Given the description of an element on the screen output the (x, y) to click on. 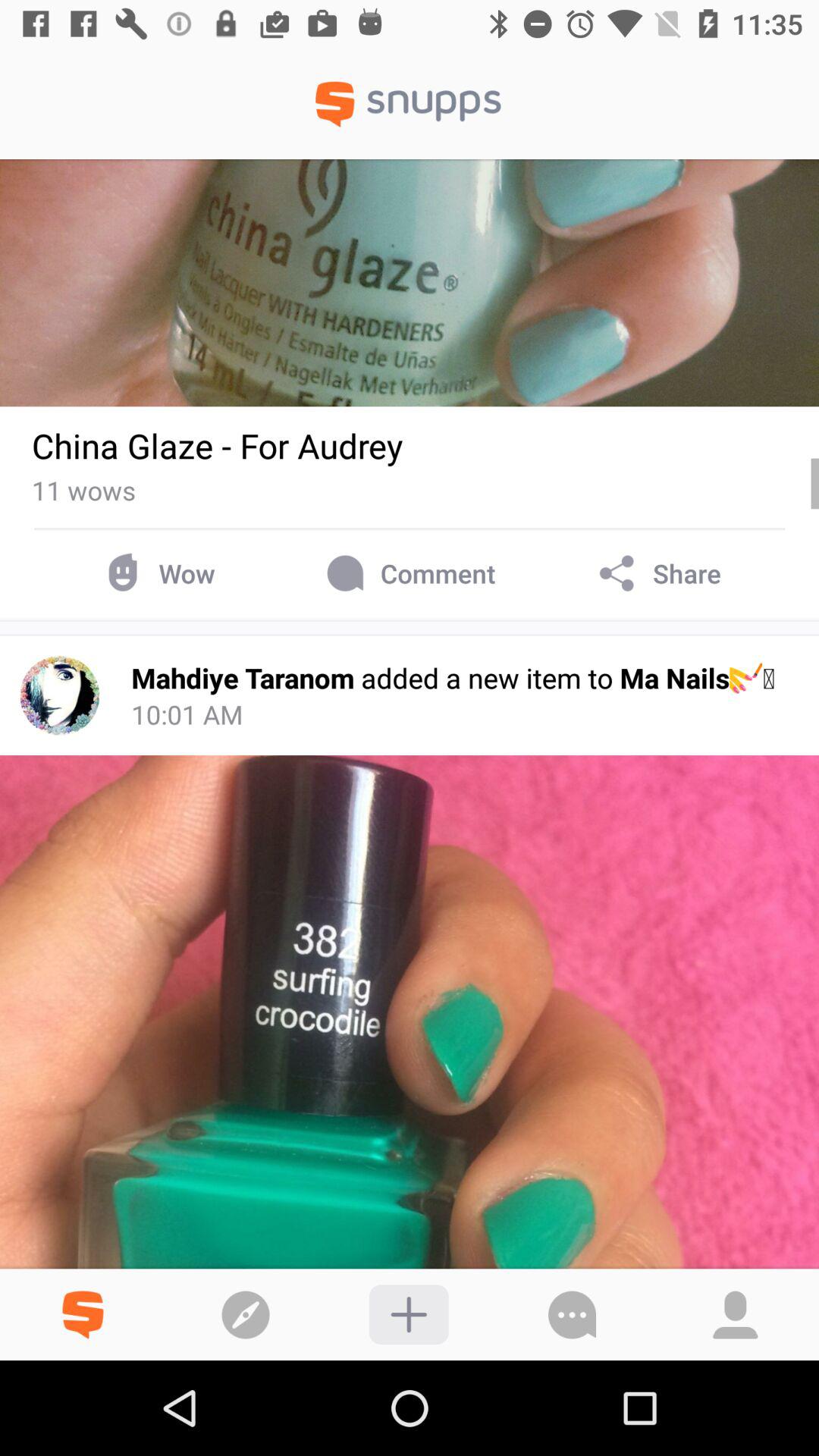
select the profile icon (735, 1303)
select the message icon from the bottom (572, 1313)
go to the icon which is just beside the navigator icon (82, 1303)
select the icon which is second left of the profile button (408, 1313)
